Given the description of an element on the screen output the (x, y) to click on. 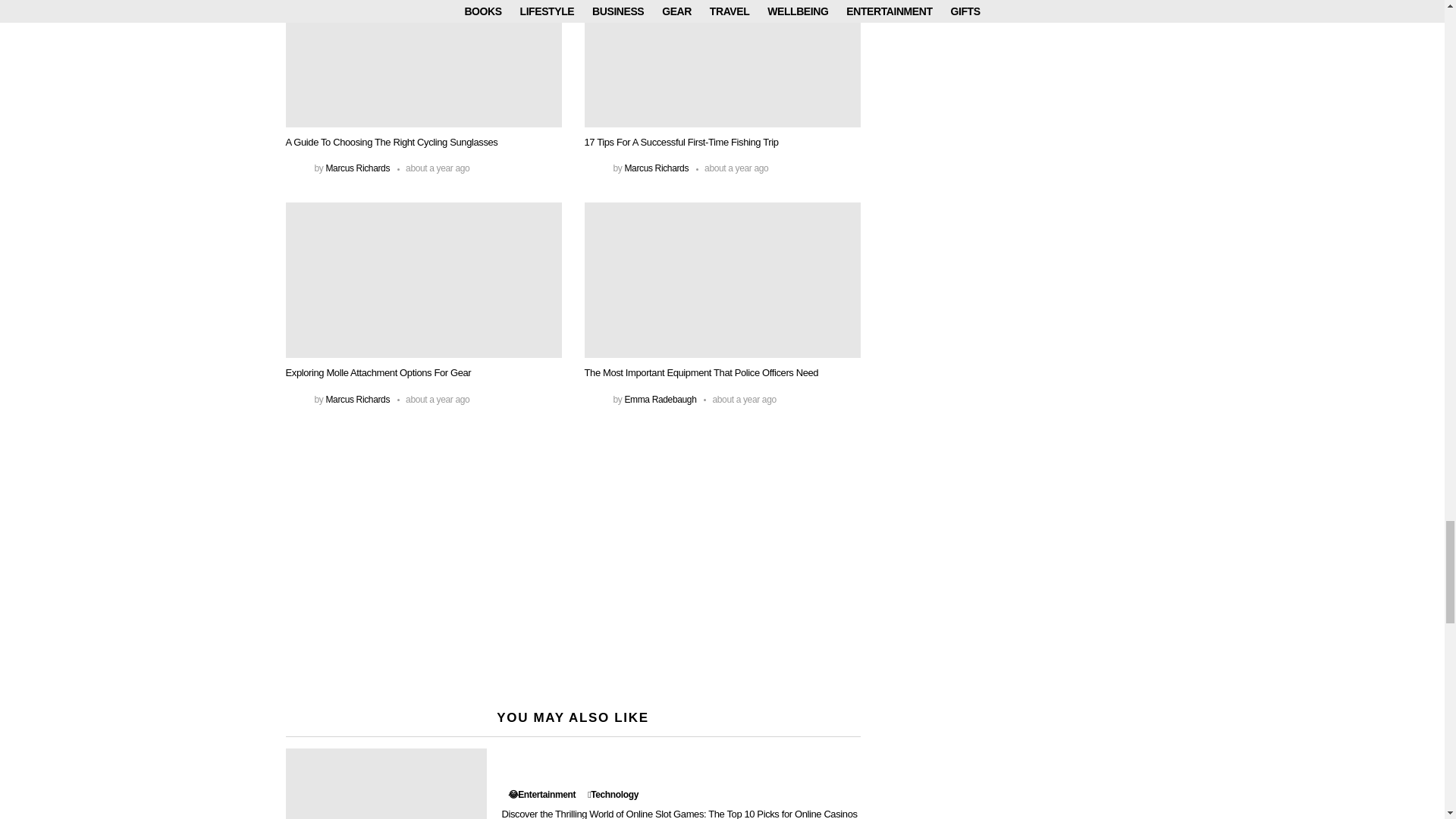
A Guide To Choosing The Right Cycling Sunglasses (422, 63)
Posts by Marcus Richards (357, 167)
